Given the description of an element on the screen output the (x, y) to click on. 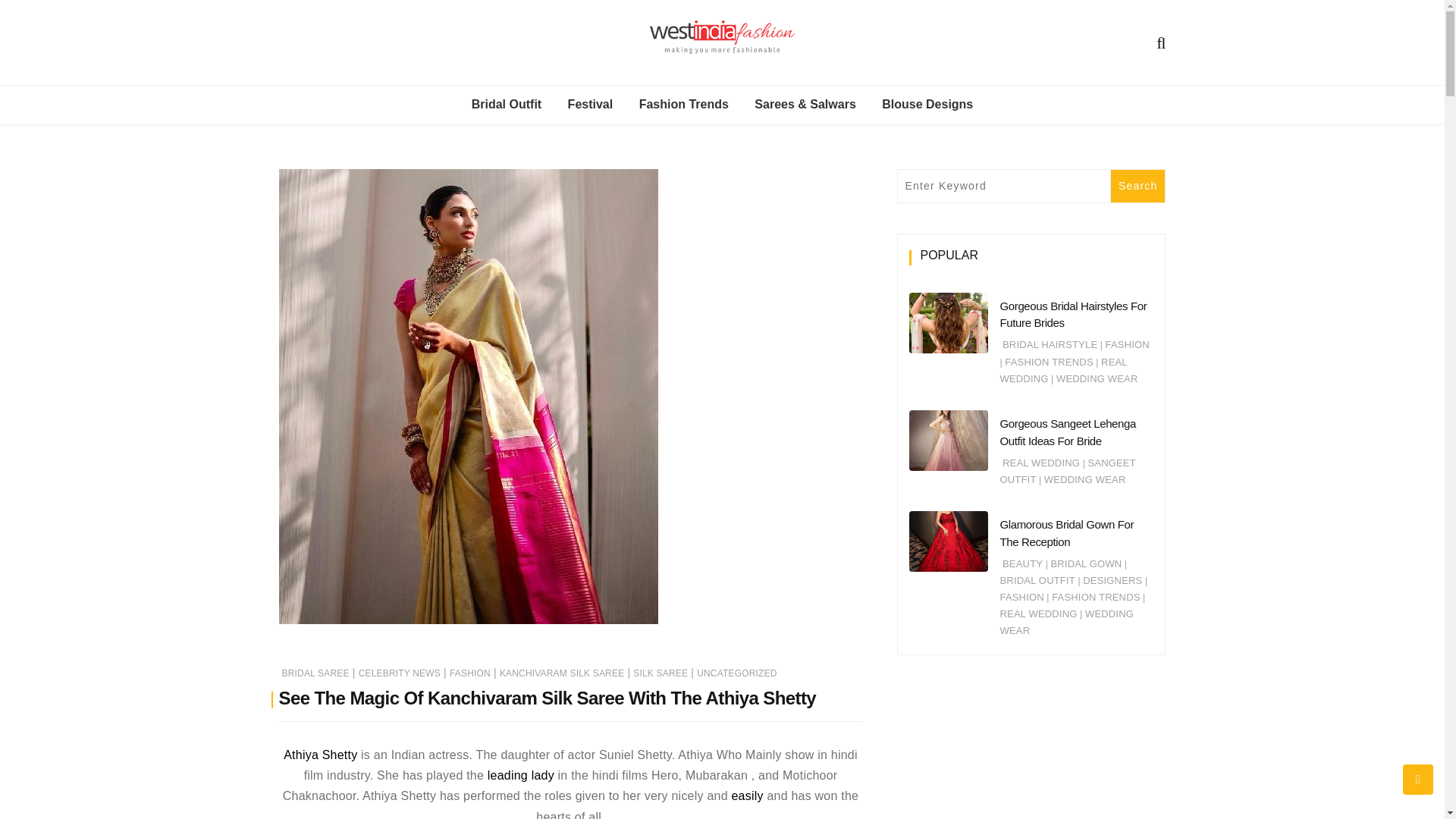
FASHION (469, 673)
Blouse Designs (927, 104)
Glamorous Bridal Gown For The Reception (1066, 532)
Gorgeous Sangeet Lehenga Outfit Ideas For Bride (1066, 431)
BRIDAL SAREE (315, 673)
West India Fashion (797, 104)
Gorgeous Bridal Hairstyles For Future Brides (1072, 314)
Bridal Sarees (554, 174)
leading lady (520, 775)
easily (748, 795)
